Given the description of an element on the screen output the (x, y) to click on. 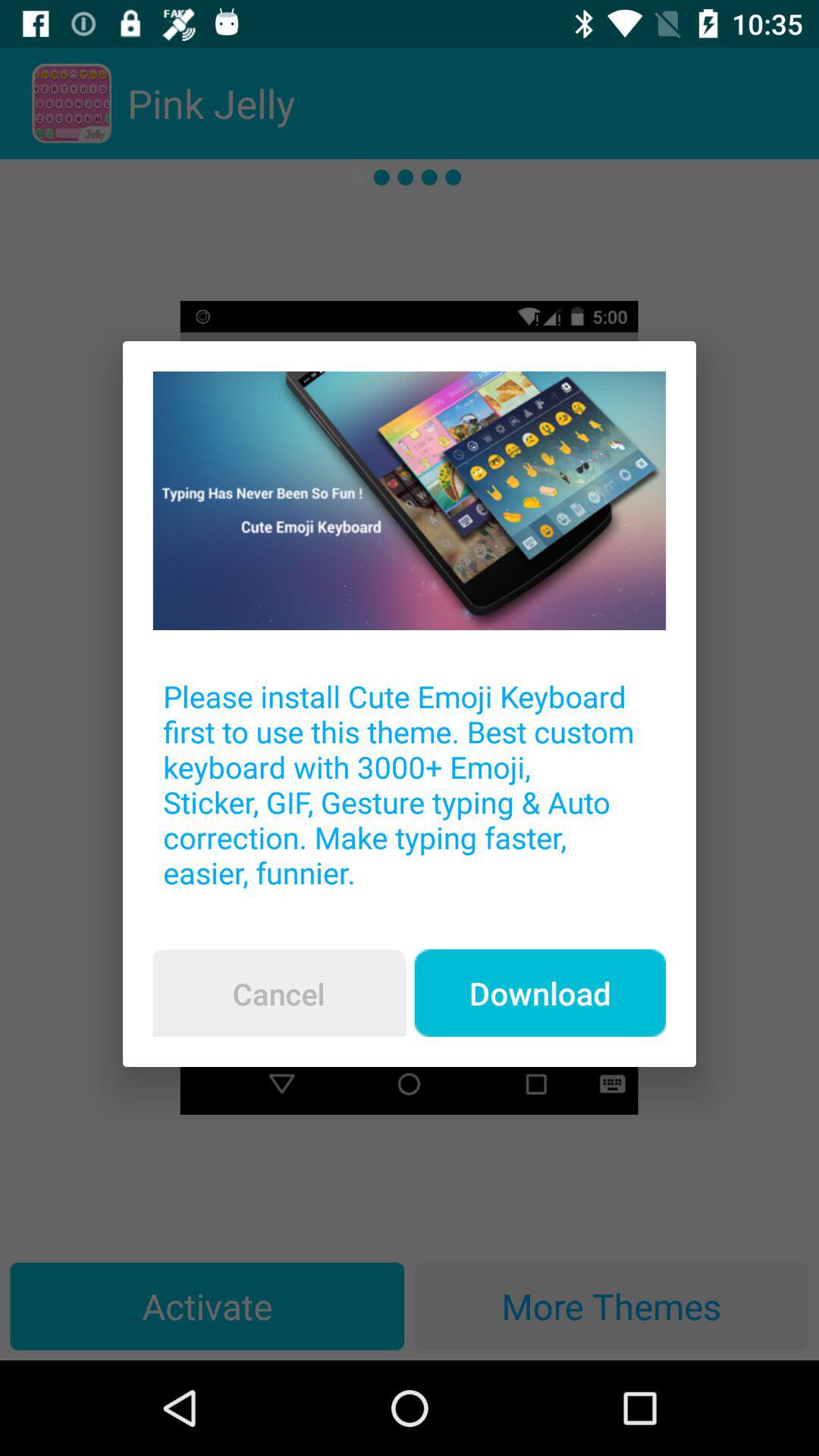
click download item (540, 992)
